Given the description of an element on the screen output the (x, y) to click on. 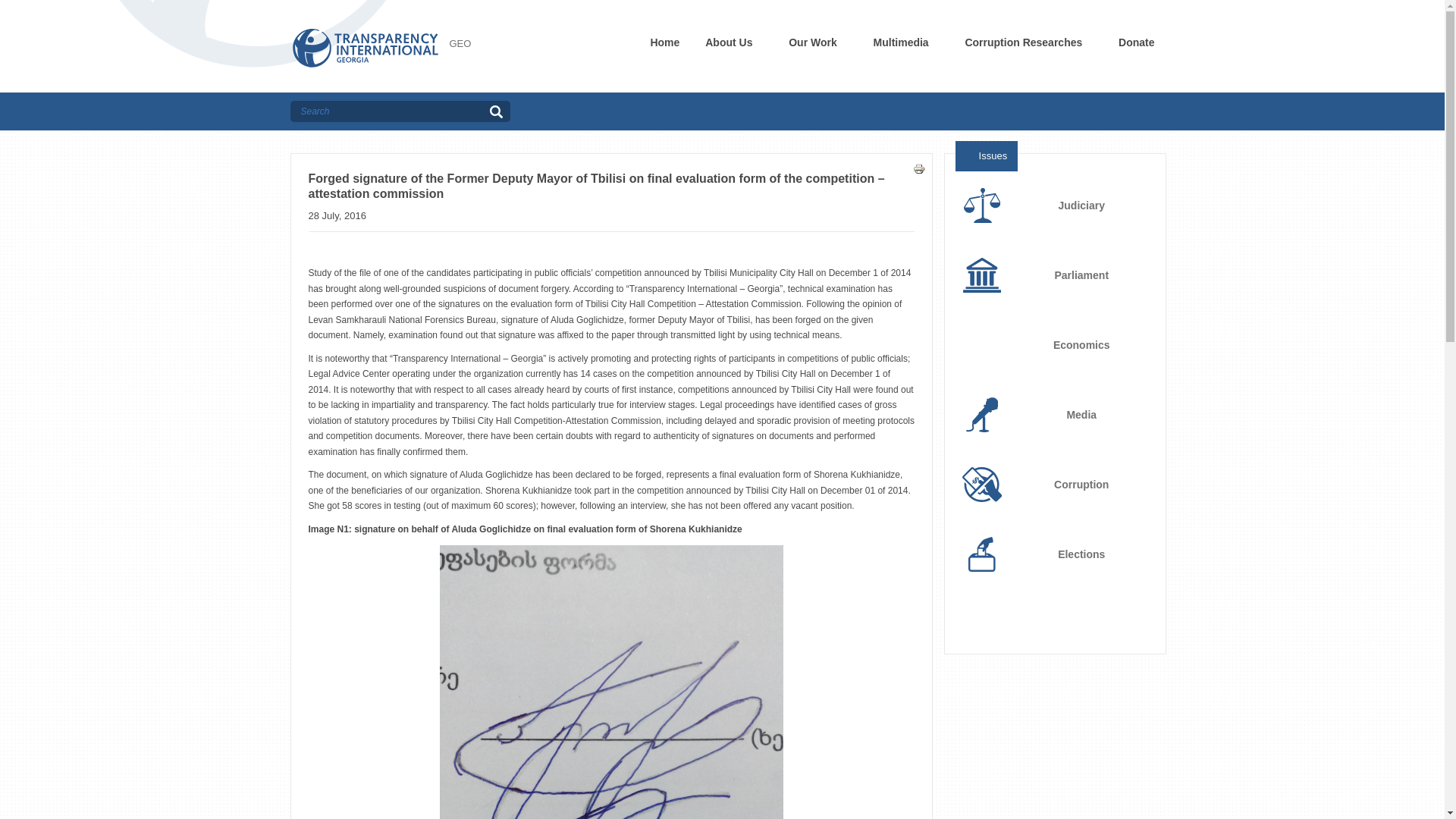
Display a printer-friendly version of this page. (918, 167)
GEO (459, 43)
Enter the terms you wish to search for. (386, 111)
print (918, 168)
